Given the description of an element on the screen output the (x, y) to click on. 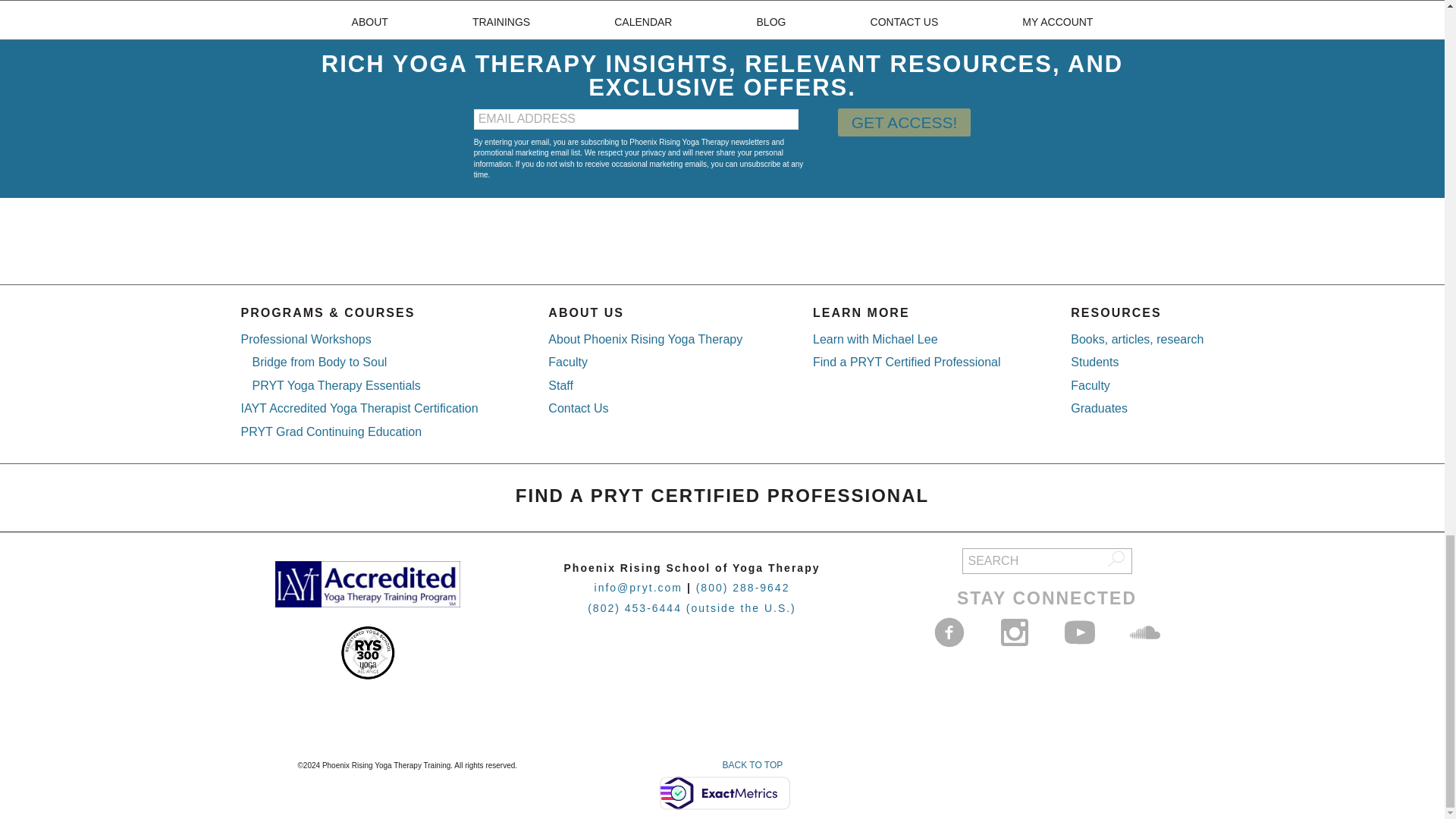
Professional Workshops (306, 338)
Faculty (568, 361)
Bridge from Body to Soul (319, 361)
instagram (1013, 632)
facebook (948, 632)
Get Access! (904, 122)
About Phoenix Rising Yoga Therapy (645, 338)
PRYT Yoga Therapy Essentials (335, 385)
Staff (560, 385)
soundcloud (1144, 632)
